Given the description of an element on the screen output the (x, y) to click on. 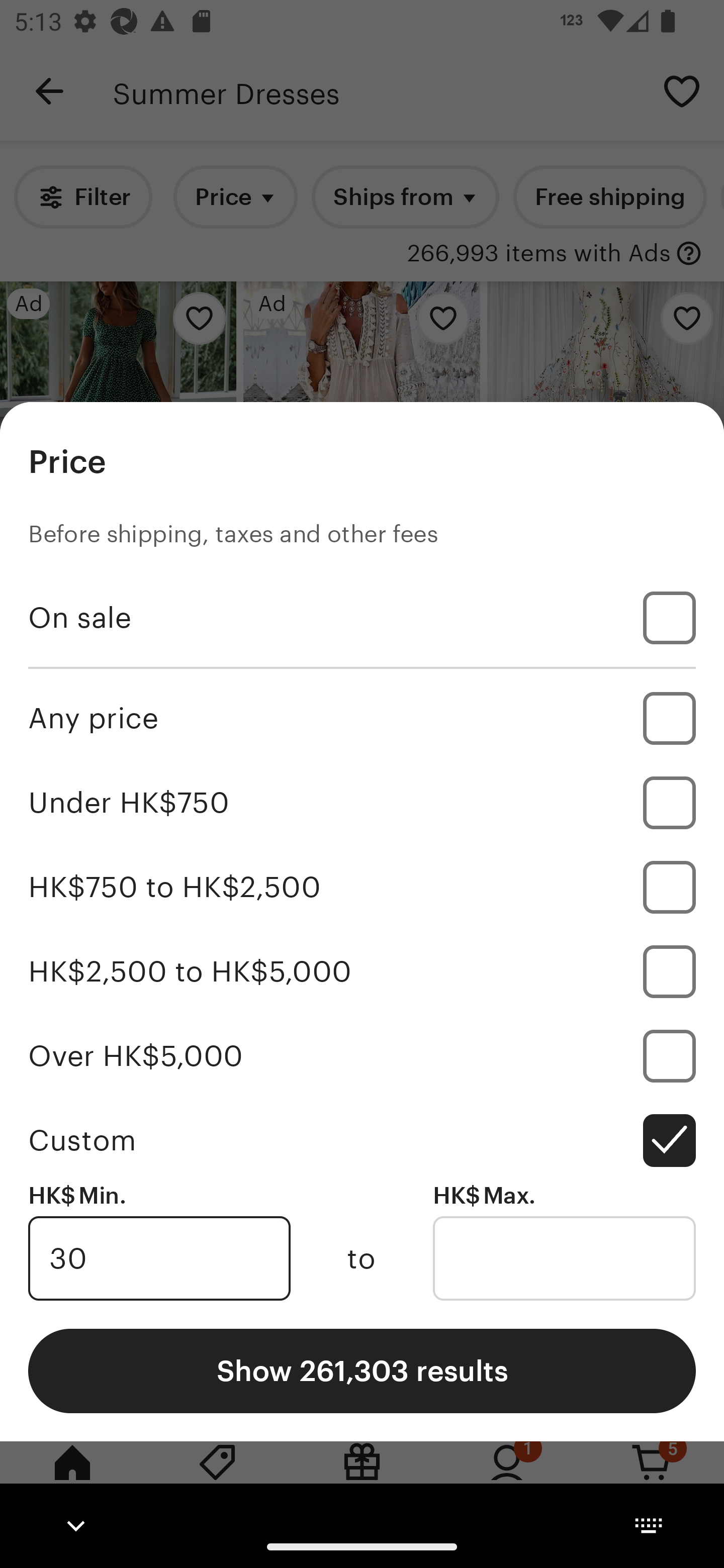
On sale (362, 617)
Any price (362, 717)
Under HK$750 (362, 802)
HK$750 to HK$2,500 (362, 887)
HK$2,500 to HK$5,000 (362, 970)
Over HK$5,000 (362, 1054)
Custom (362, 1139)
30 (159, 1257)
Show 261,303 results (361, 1370)
